Given the description of an element on the screen output the (x, y) to click on. 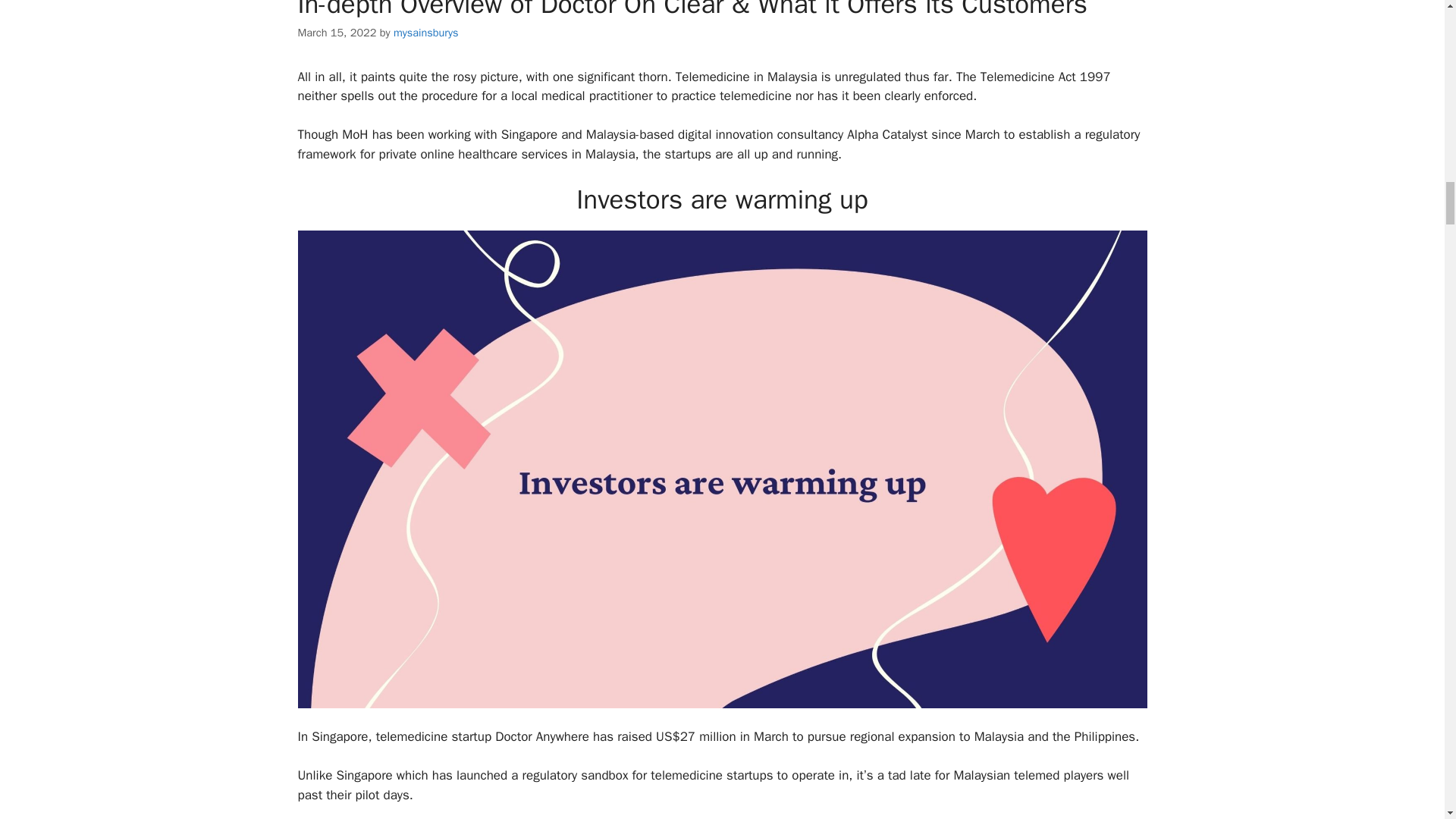
mysainsburys (425, 32)
View all posts by mysainsburys (425, 32)
